Given the description of an element on the screen output the (x, y) to click on. 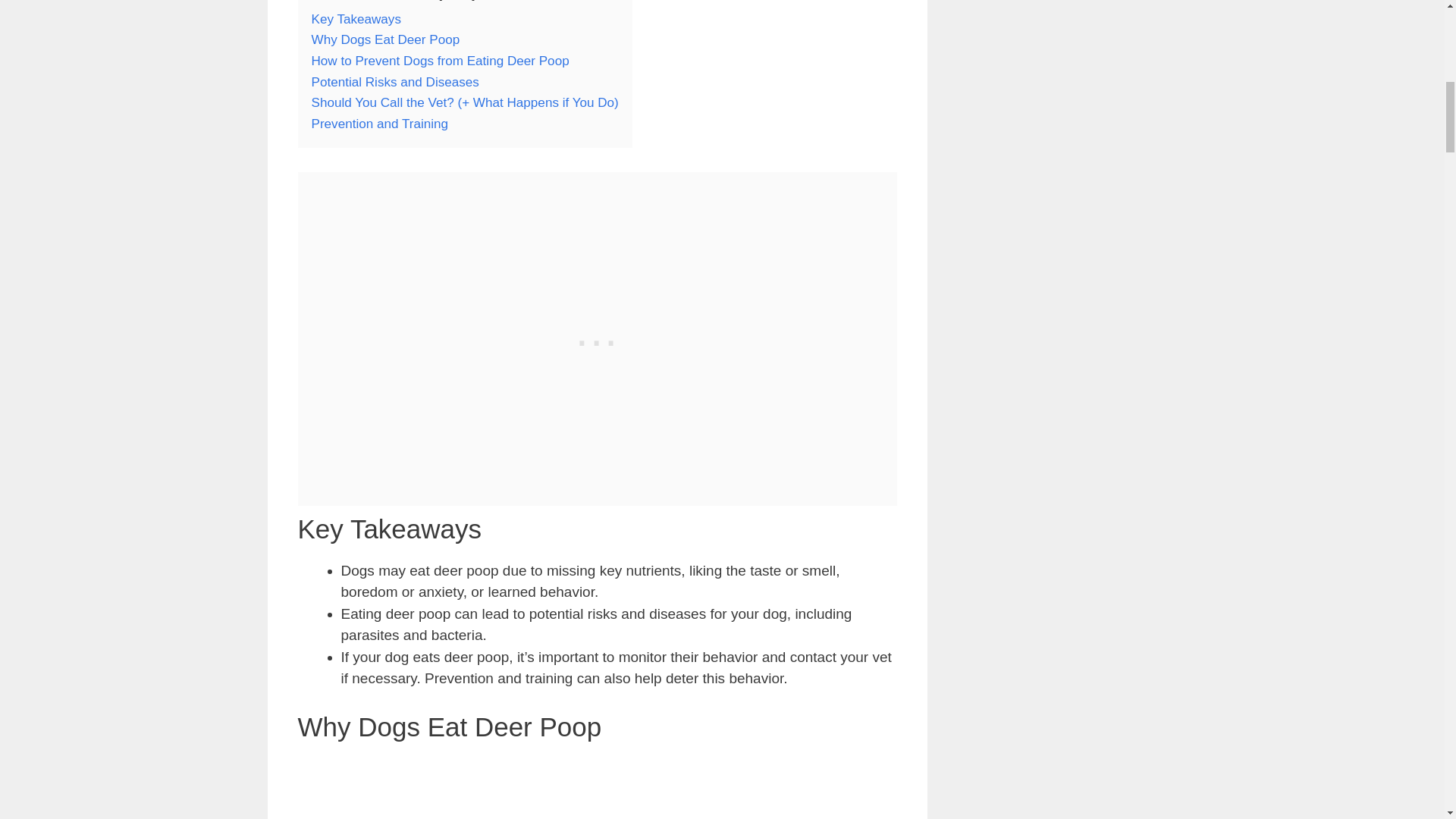
How to Prevent Dogs from Eating Deer Poop (440, 60)
Prevention and Training (379, 124)
Key Takeaways (355, 19)
Potential Risks and Diseases (395, 82)
Why Dogs Eat Deer Poop (385, 39)
